Given the description of an element on the screen output the (x, y) to click on. 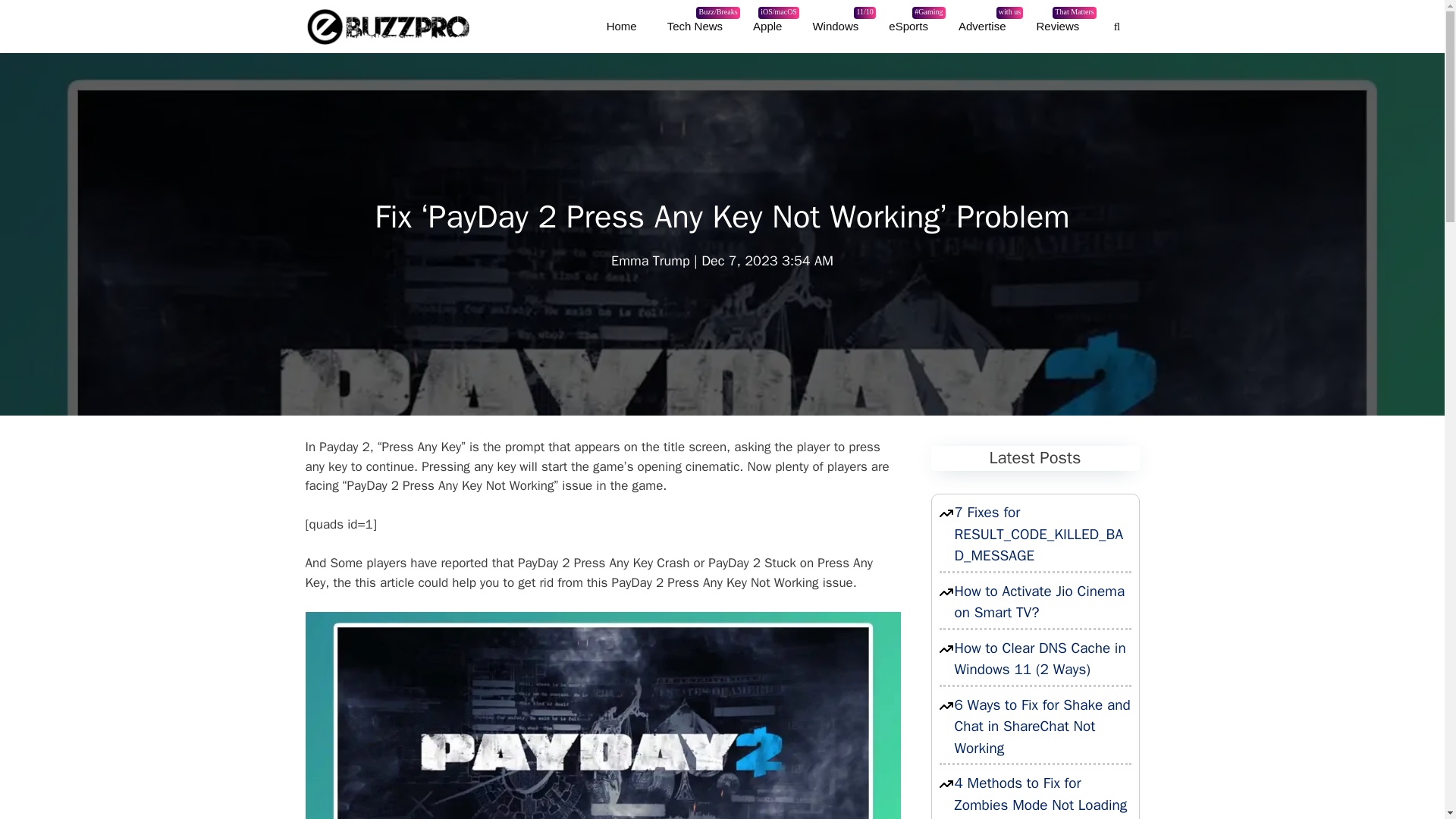
4 Methods to Fix for Zombies Mode Not Loading in MW3 (1039, 796)
eBuzzPro.com (387, 26)
View all posts by Emma Trump (650, 260)
How to Activate Jio Cinema on Smart TV? (1058, 26)
Home (1038, 602)
Emma Trump (982, 26)
6 Ways to Fix for Shake and Chat in ShareChat Not Working (621, 26)
eBuzzPro.com (650, 260)
